Given the description of an element on the screen output the (x, y) to click on. 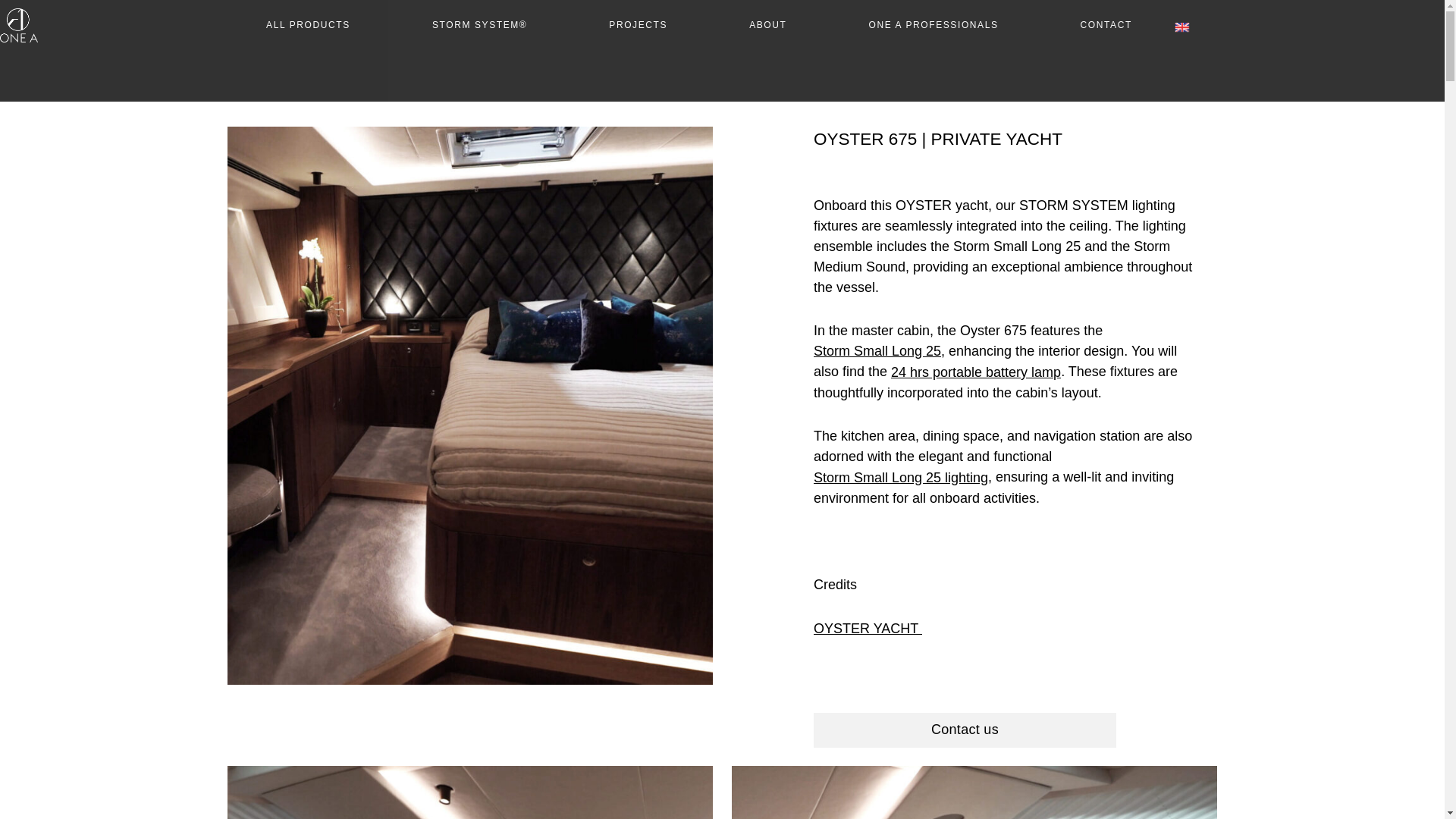
ALL PRODUCTS (308, 25)
24 hrs portable battery lamp (976, 372)
PROJECTS (637, 25)
Storm Small Long 25 (876, 351)
OYSTER YACHT  (867, 629)
CONTACT (1106, 25)
ONE A PROFESSIONALS (933, 25)
Storm Small Long 25 lighting (900, 477)
ABOUT (767, 25)
Contact us (964, 729)
